Given the description of an element on the screen output the (x, y) to click on. 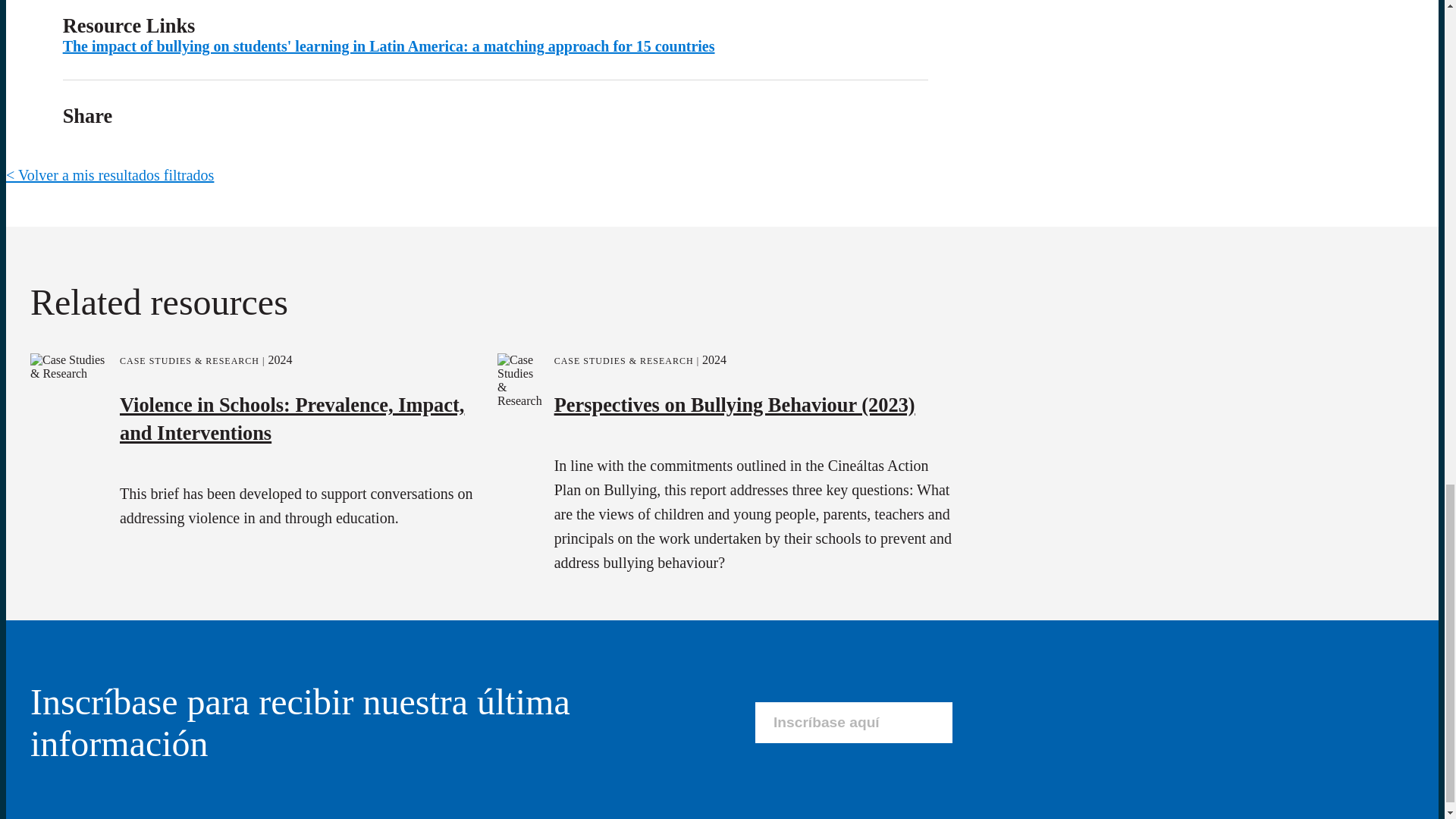
Home (188, 560)
Violence in Schools: Prevalence, Impact, and Interventions (291, 53)
Home (24, 527)
